Given the description of an element on the screen output the (x, y) to click on. 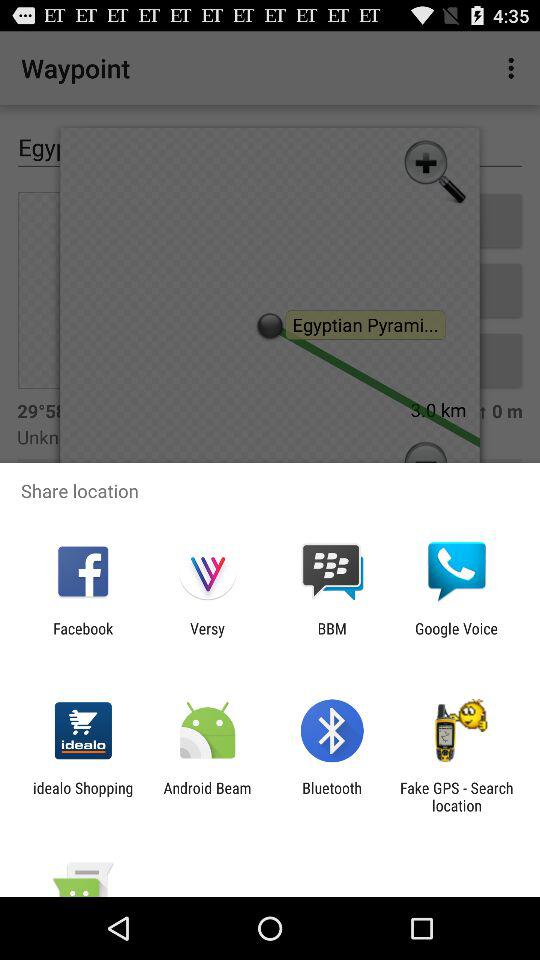
press item next to bluetooth app (207, 796)
